Given the description of an element on the screen output the (x, y) to click on. 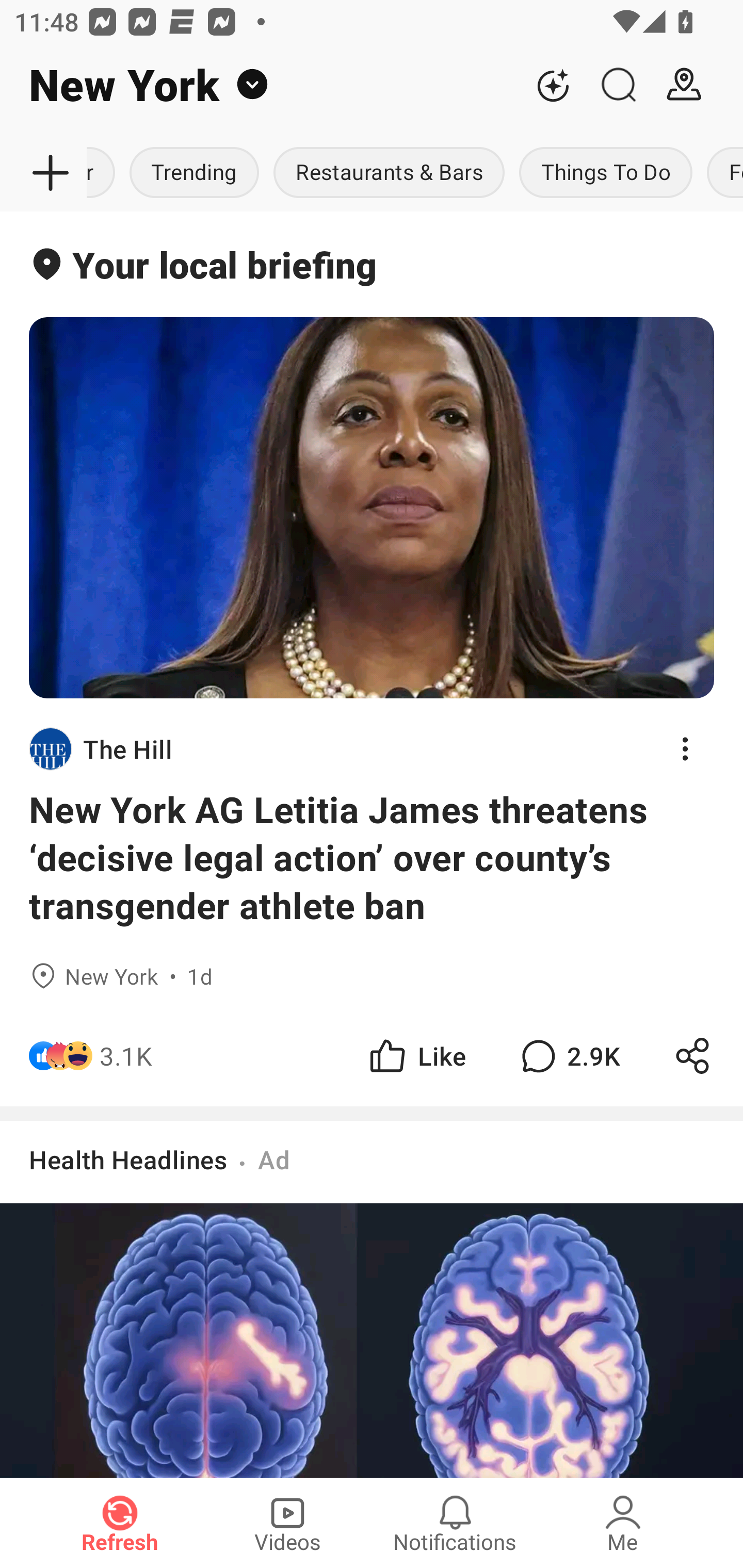
New York (260, 84)
Trending (193, 172)
Restaurants & Bars (388, 172)
Things To Do (605, 172)
3.1K (125, 1055)
Like (416, 1055)
2.9K (568, 1055)
Health Headlines (127, 1159)
Videos (287, 1522)
Notifications (455, 1522)
Me (622, 1522)
